Given the description of an element on the screen output the (x, y) to click on. 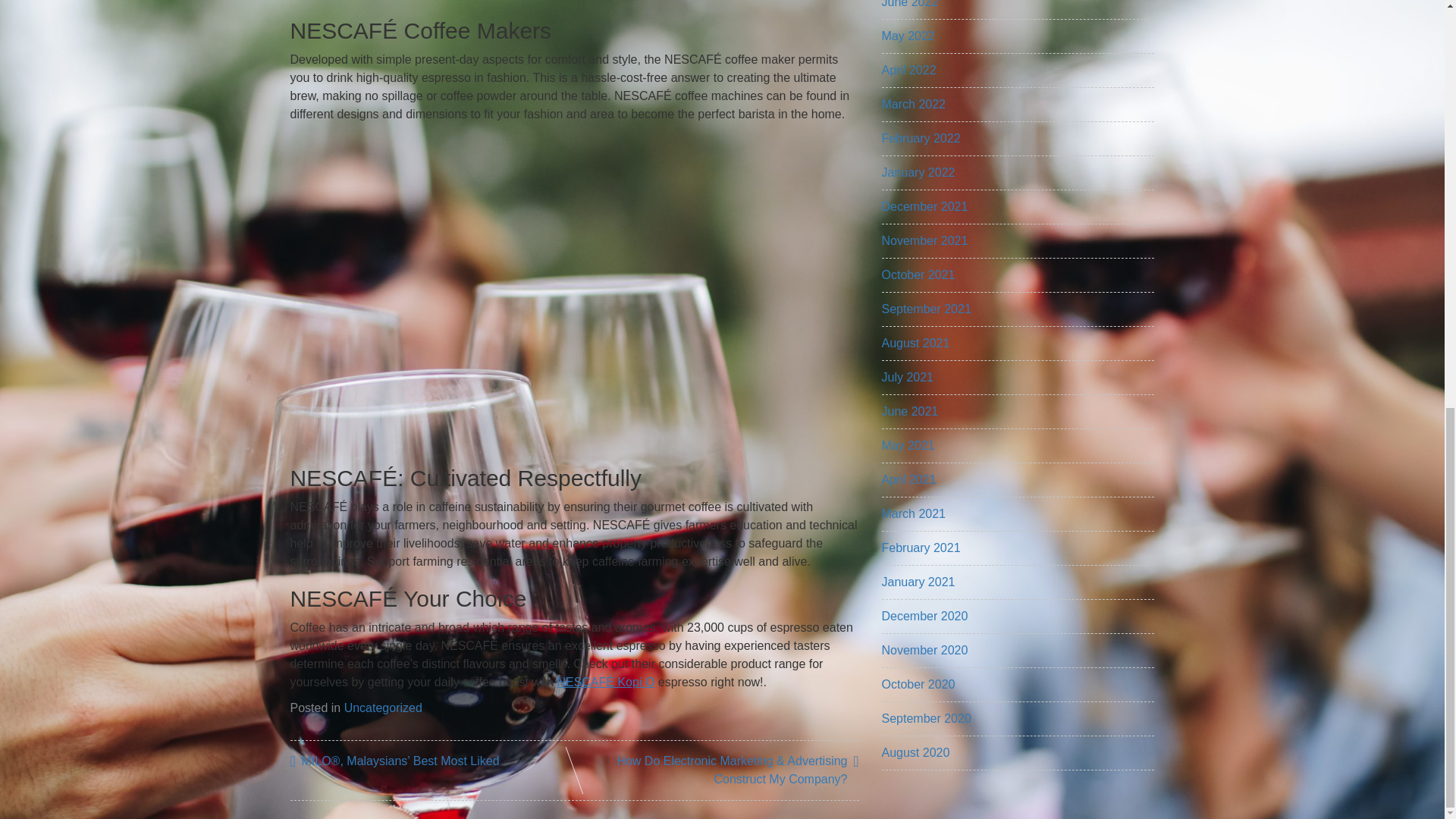
January 2022 (917, 172)
June 2022 (908, 4)
February 2022 (919, 137)
June 2021 (908, 410)
November 2021 (924, 240)
July 2021 (906, 377)
May 2021 (907, 445)
April 2022 (908, 69)
September 2021 (925, 308)
December 2021 (924, 205)
October 2021 (917, 274)
Uncategorized (382, 707)
May 2022 (907, 35)
March 2022 (912, 103)
August 2021 (914, 342)
